Given the description of an element on the screen output the (x, y) to click on. 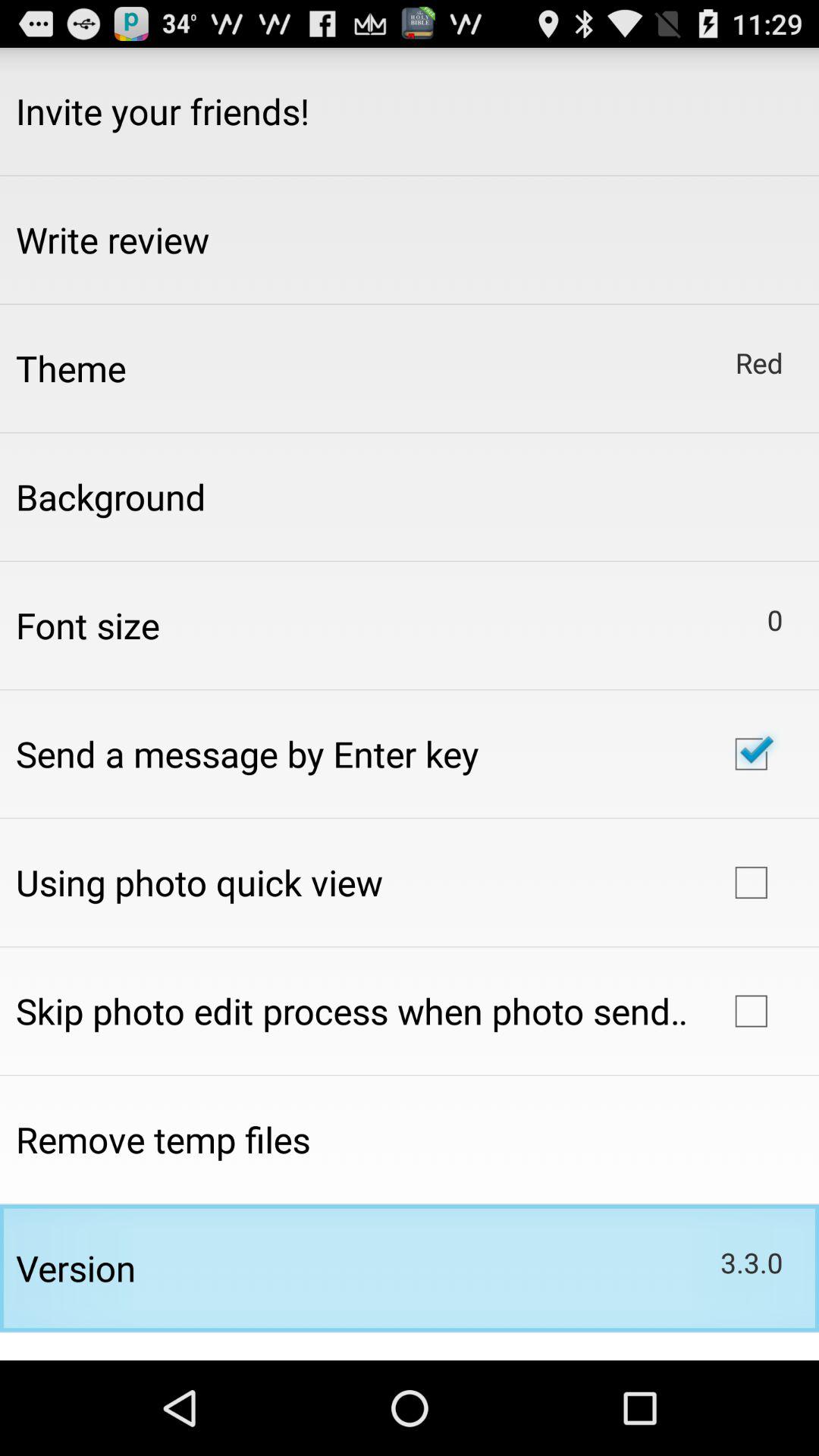
tap icon above remove temp files app (351, 1010)
